Given the description of an element on the screen output the (x, y) to click on. 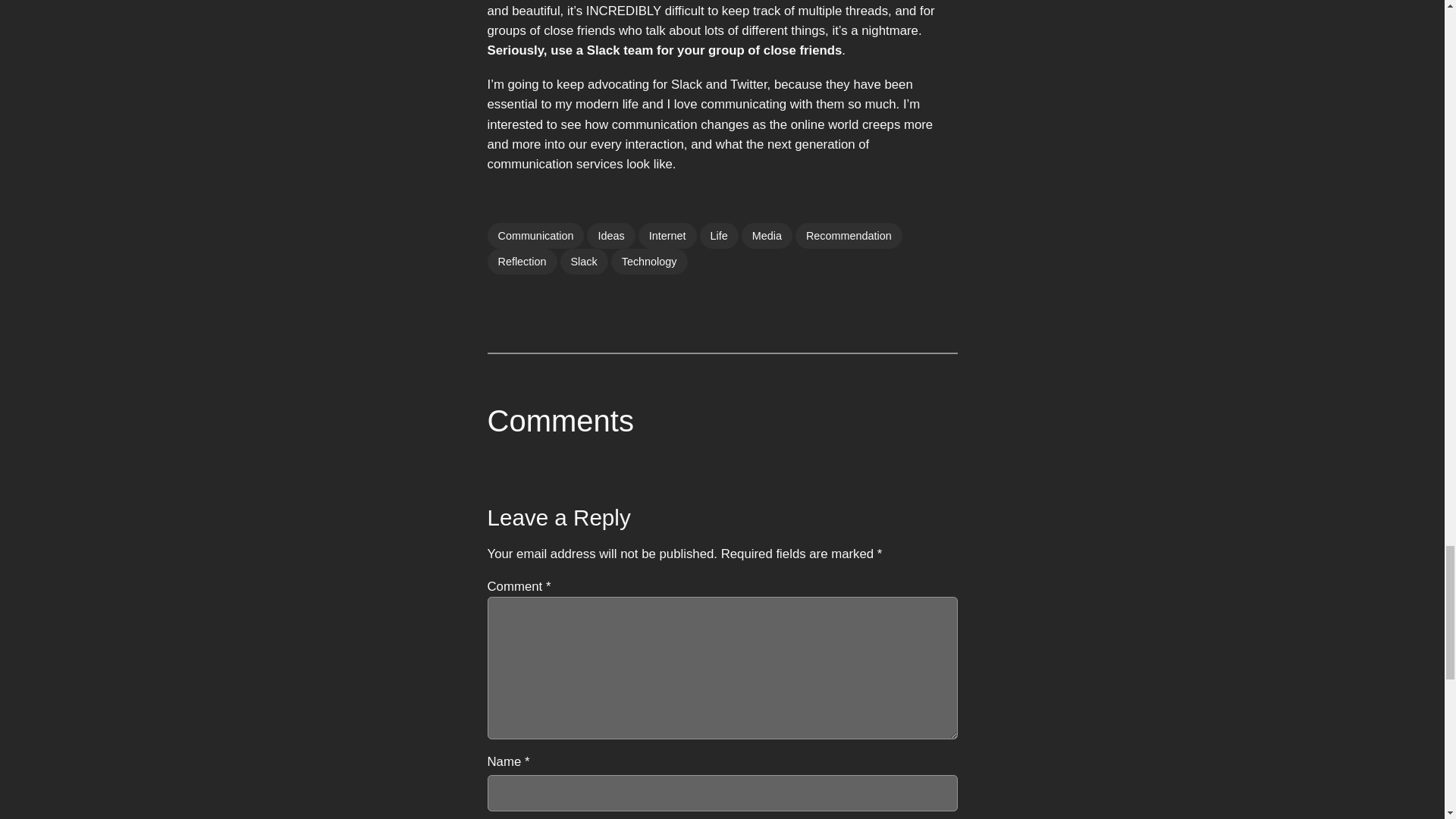
Media (766, 235)
Internet (668, 235)
Slack (583, 261)
Communication (534, 235)
Recommendation (848, 235)
Reflection (521, 261)
Technology (649, 261)
Ideas (610, 235)
Life (719, 235)
